Given the description of an element on the screen output the (x, y) to click on. 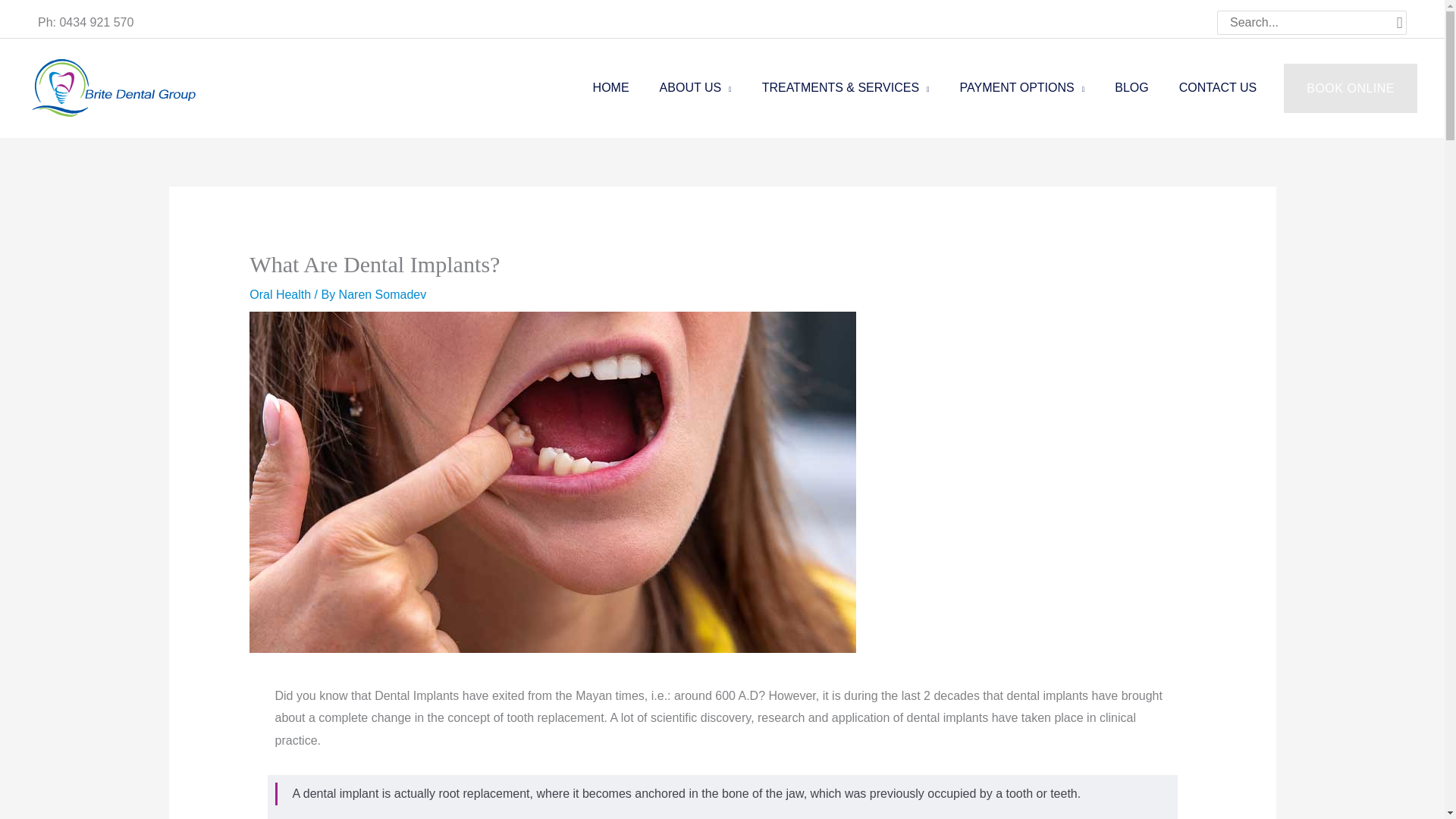
ABOUT US (695, 88)
View all posts by Naren Somadev (382, 294)
